Given the description of an element on the screen output the (x, y) to click on. 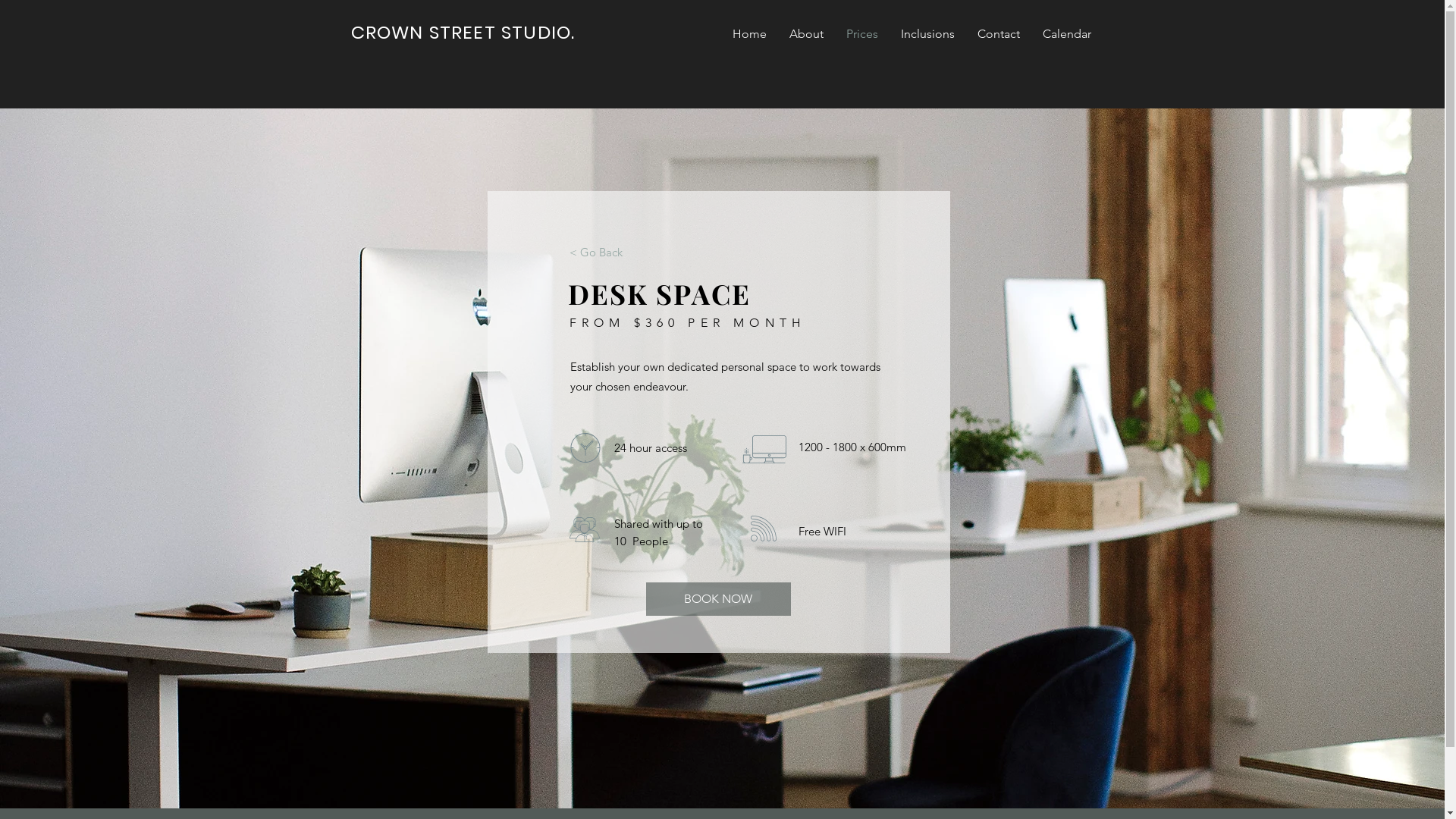
Calendar Element type: text (1066, 34)
Inclusions Element type: text (926, 34)
BOOK NOW Element type: text (718, 598)
Contact Element type: text (998, 34)
< Go Back Element type: text (595, 251)
About Element type: text (806, 34)
Prices Element type: text (861, 34)
CROWN STREET STUDIO. Element type: text (462, 31)
Home Element type: text (748, 34)
